Given the description of an element on the screen output the (x, y) to click on. 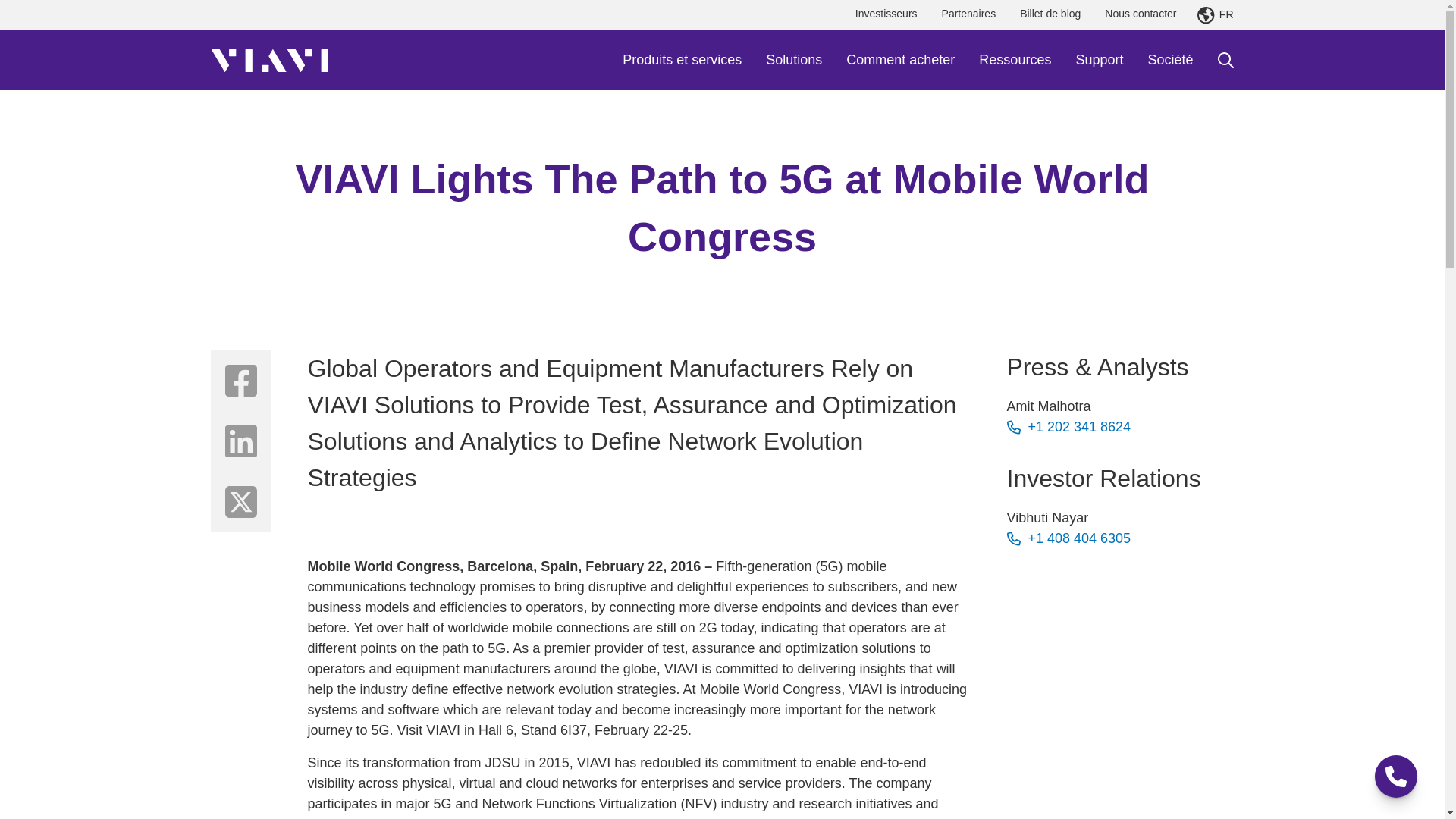
Produits et services (682, 60)
Investisseurs (886, 14)
Partenaires (969, 14)
VIAVI Solutions (269, 59)
Nous contacter (1140, 14)
FR (1214, 15)
Billet de blog (1050, 14)
